Given the description of an element on the screen output the (x, y) to click on. 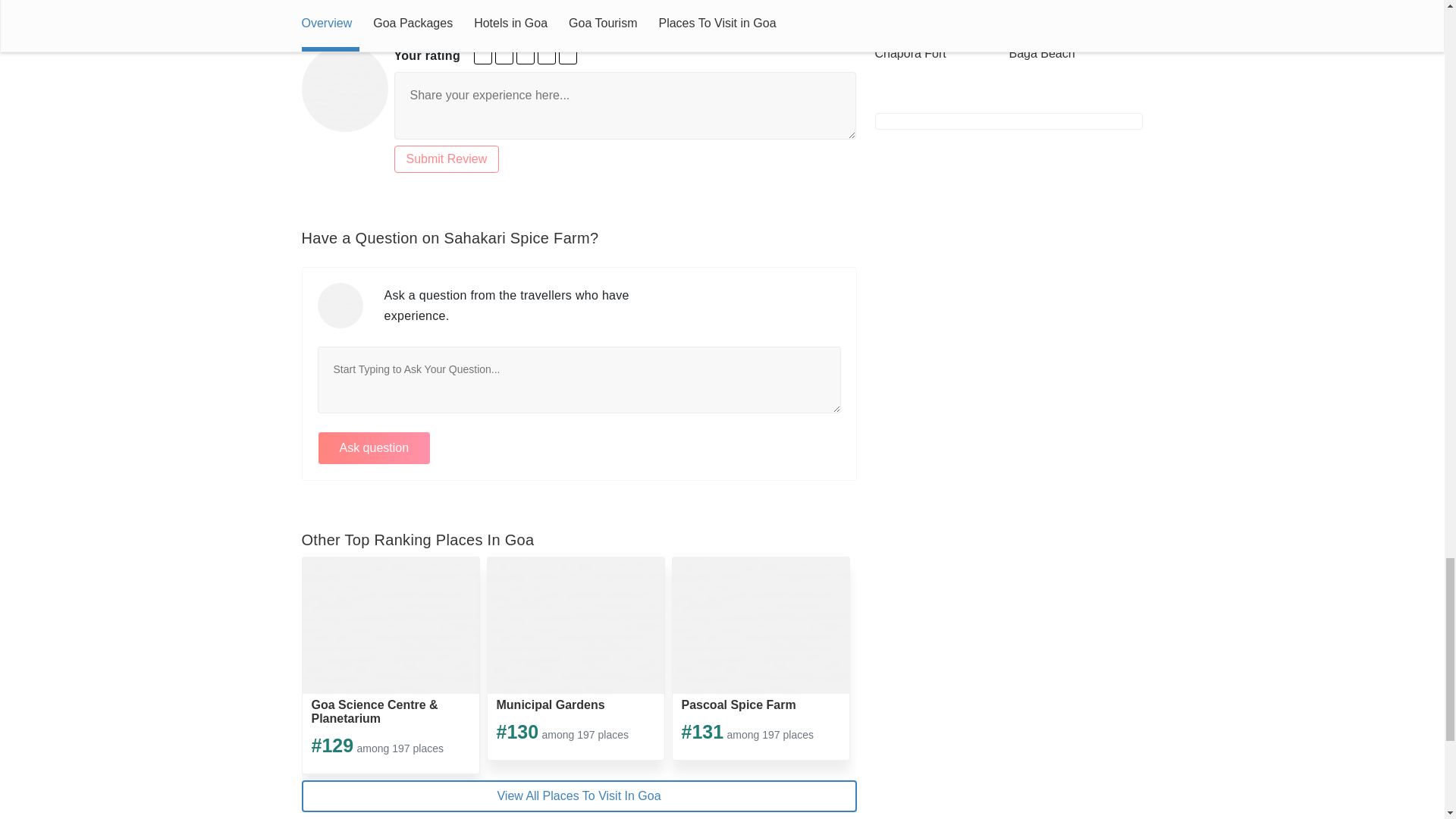
Only if it's a free ride (504, 55)
Time to book my leaves (546, 55)
Worth a visit (525, 55)
I'd rather visit my aunt (483, 55)
Pack your bags NOW! (567, 55)
